Given the description of an element on the screen output the (x, y) to click on. 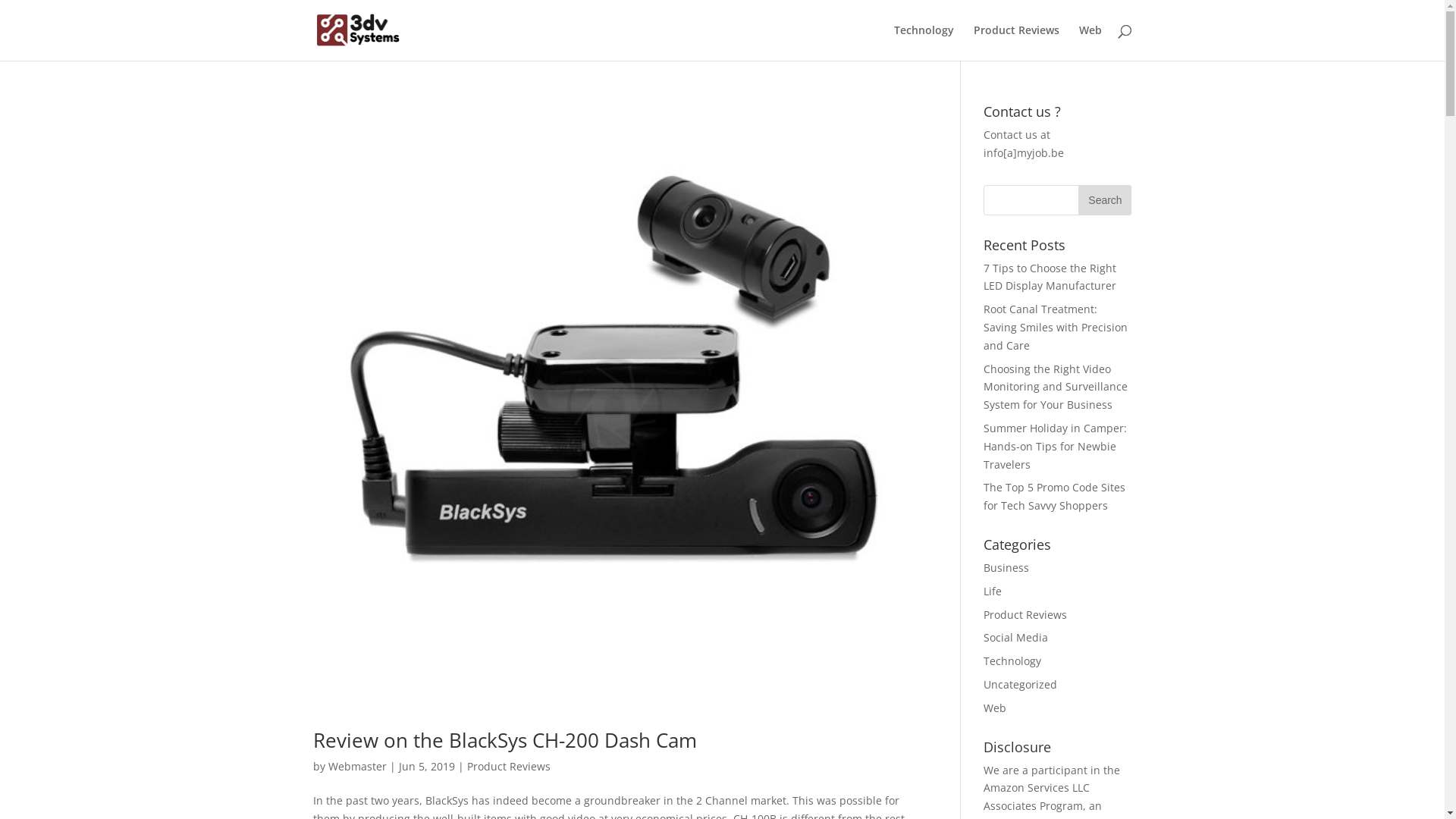
Summer Holiday in Camper: Hands-on Tips for Newbie Travelers Element type: text (1054, 445)
Technology Element type: text (1012, 660)
Search Element type: text (1104, 200)
Web Element type: text (994, 707)
Review on the BlackSys CH-200 Dash Cam Element type: text (504, 739)
Life Element type: text (992, 590)
7 Tips to Choose the Right LED Display Manufacturer Element type: text (1049, 276)
Technology Element type: text (923, 42)
The Top 5 Promo Code Sites for Tech Savvy Shoppers Element type: text (1054, 496)
Product Reviews Element type: text (1016, 42)
Webmaster Element type: text (356, 766)
Web Element type: text (1089, 42)
Uncategorized Element type: text (1020, 684)
Root Canal Treatment: Saving Smiles with Precision and Care Element type: text (1055, 326)
Product Reviews Element type: text (508, 766)
Product Reviews Element type: text (1024, 614)
Social Media Element type: text (1015, 637)
Business Element type: text (1006, 567)
